Given the description of an element on the screen output the (x, y) to click on. 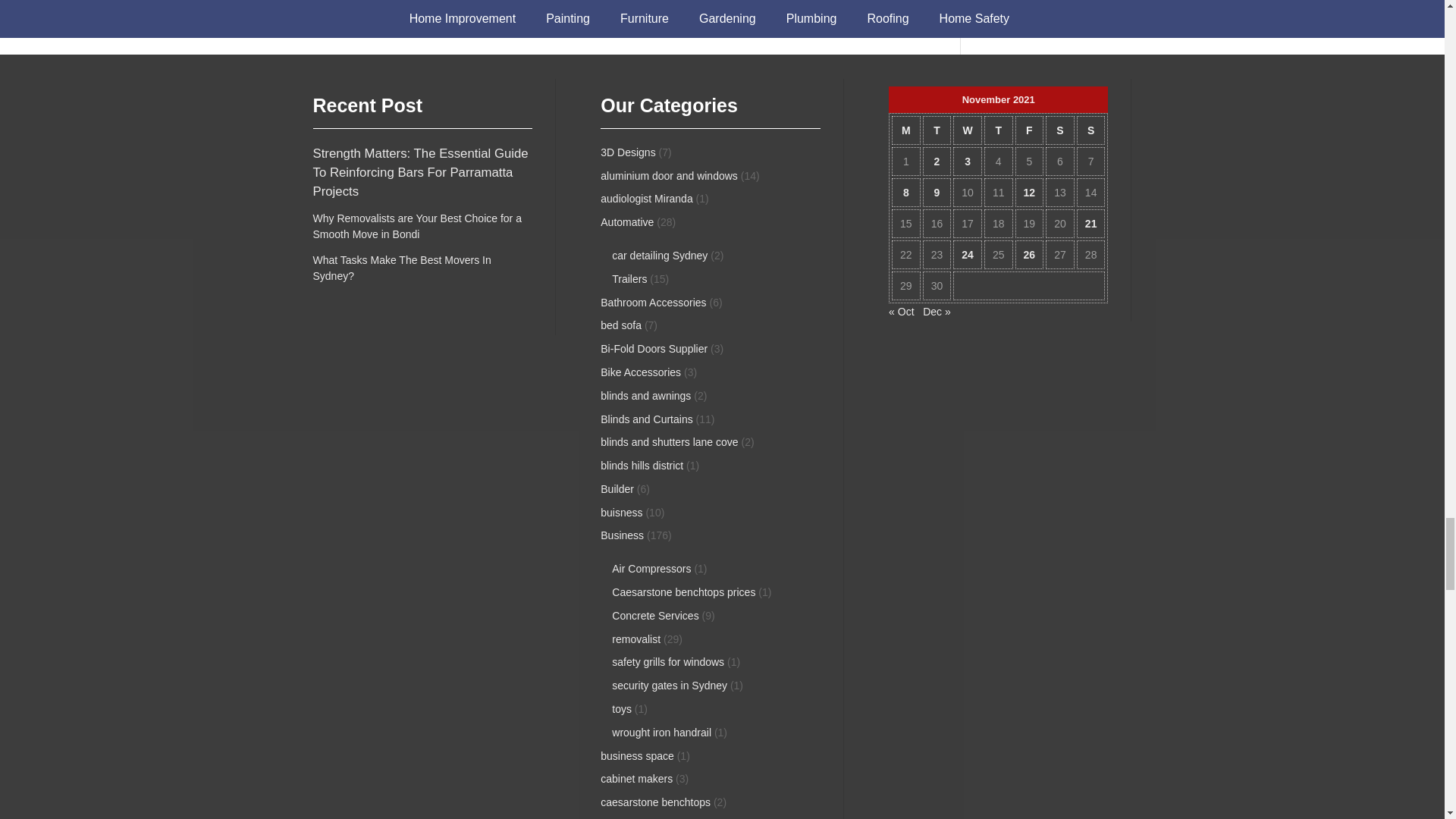
Wednesday (967, 130)
Monday (905, 130)
Tuesday (937, 130)
